Given the description of an element on the screen output the (x, y) to click on. 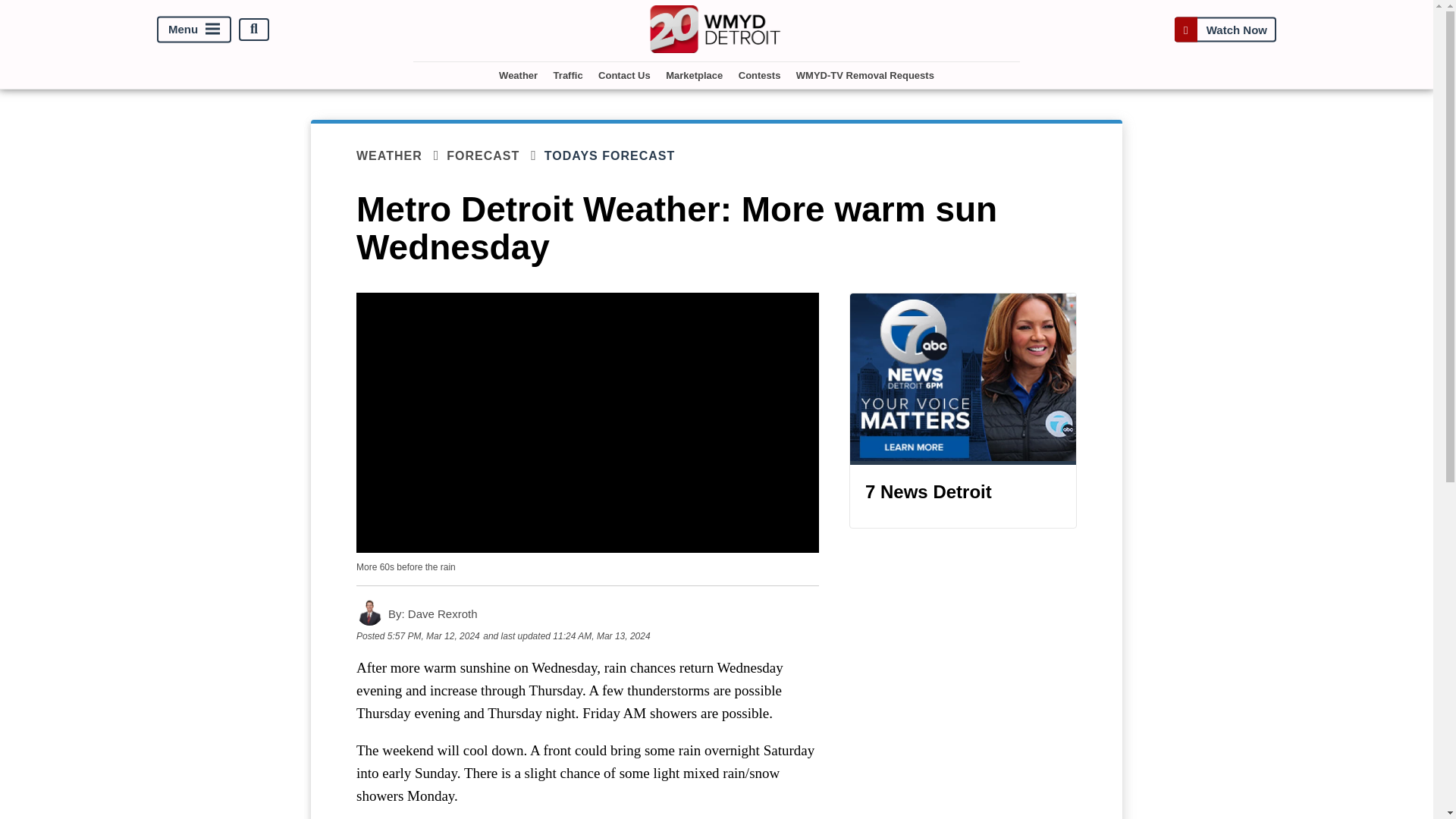
Menu (194, 28)
Marketplace (694, 75)
Watch Now (1224, 29)
WMYD-TV Removal Requests (865, 75)
Contact Us (624, 75)
Contests (759, 75)
Weather (518, 75)
Traffic (568, 75)
WEATHER (401, 155)
